Given the description of an element on the screen output the (x, y) to click on. 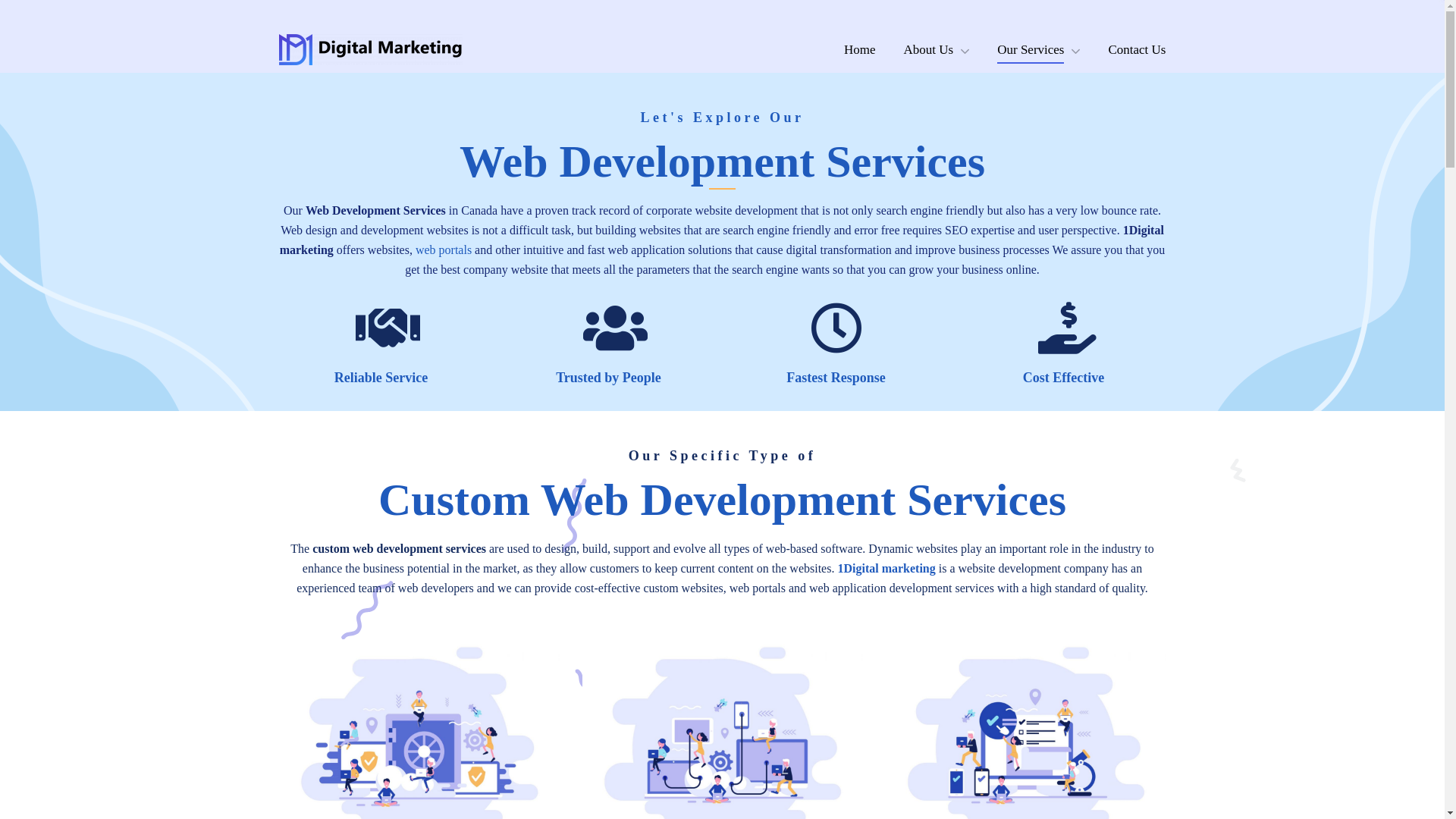
Our Services Element type: text (1038, 49)
Contact Us Element type: text (1136, 49)
web portals Element type: text (443, 249)
Web Development Services | 1Digital Marketing Element type: hover (1325, 310)
1Digital marketing Element type: text (886, 567)
About Us Element type: text (936, 49)
Home Element type: text (859, 49)
Web Development Services | 1Digital Marketing Element type: hover (1350, 265)
